Given the description of an element on the screen output the (x, y) to click on. 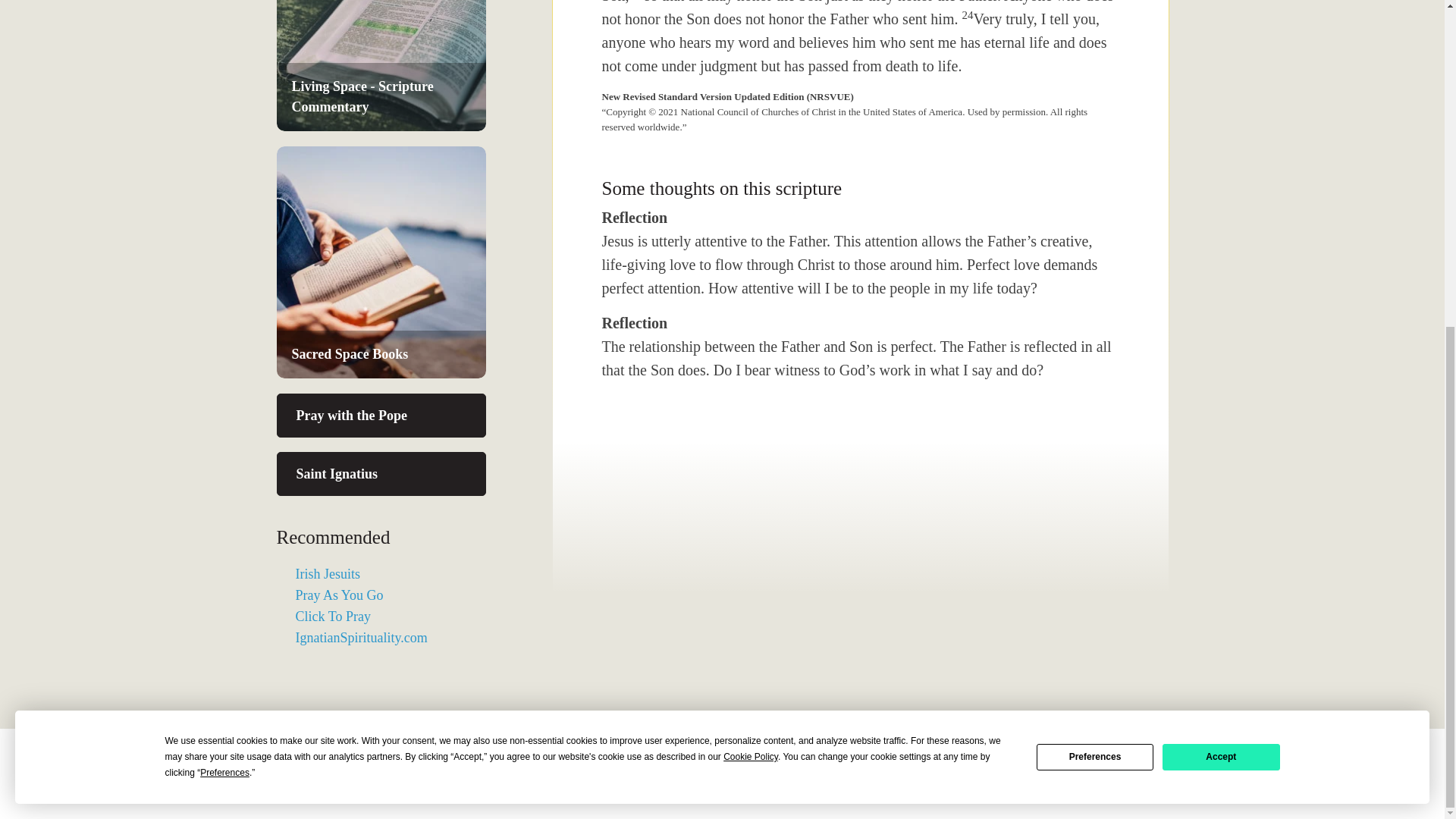
Preferences (1094, 219)
Accept (1220, 219)
